Given the description of an element on the screen output the (x, y) to click on. 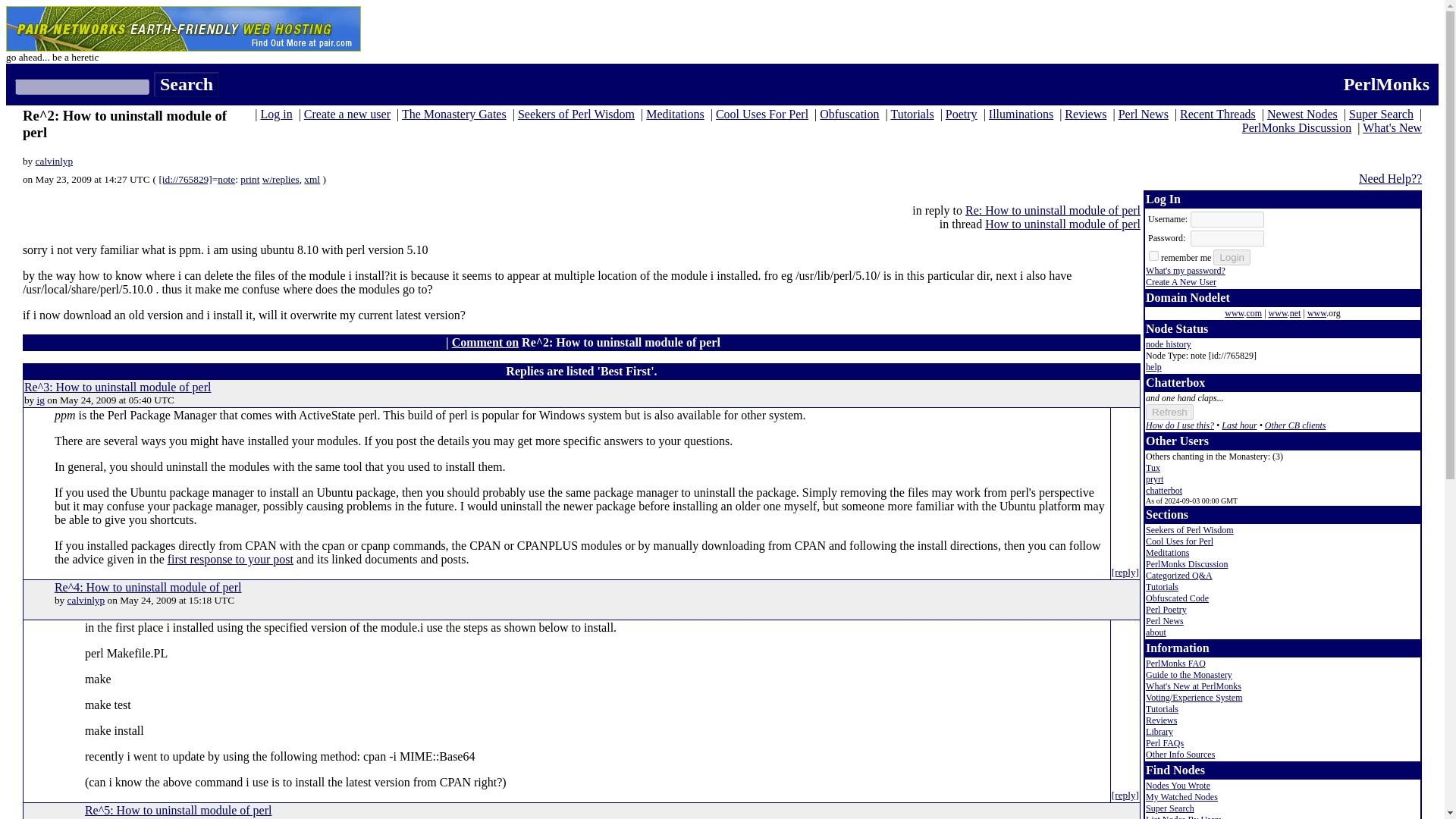
Need Help?? (1390, 178)
Newest Nodes (1302, 113)
Illuminations (1020, 113)
xml (312, 179)
Login (1231, 257)
Create a new user (347, 113)
note (225, 179)
pryrt's home node. Level 19 (1154, 479)
chatterbot's home node. Level 1 (1163, 490)
Tux's home node. Level 20 (1152, 467)
